Given the description of an element on the screen output the (x, y) to click on. 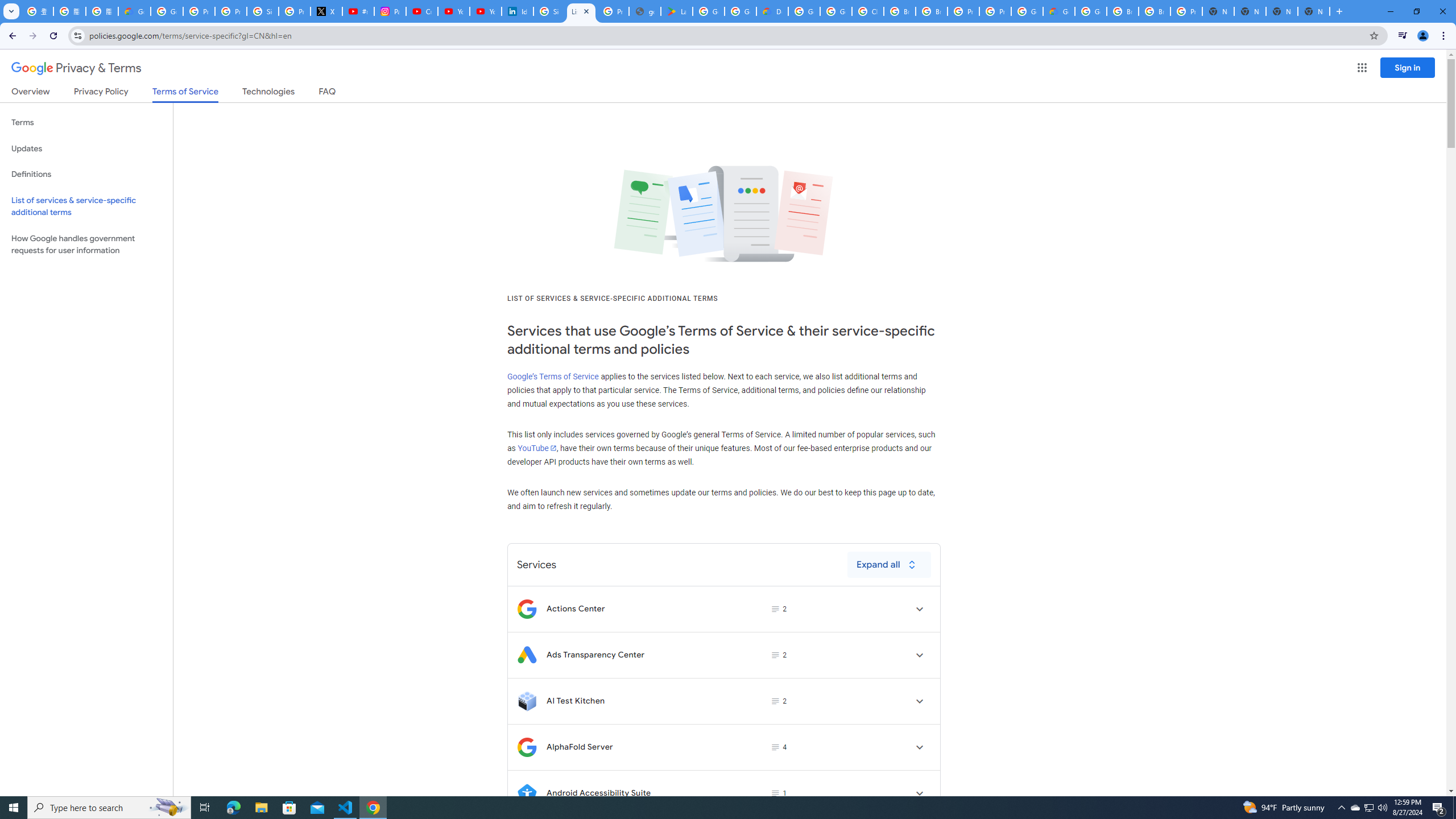
X (326, 11)
Google Workspace - Specific Terms (740, 11)
New Tab (1313, 11)
Google Cloud Platform (1027, 11)
Google Cloud Platform (1091, 11)
Logo for Actions Center (526, 608)
Expand all (888, 564)
